Given the description of an element on the screen output the (x, y) to click on. 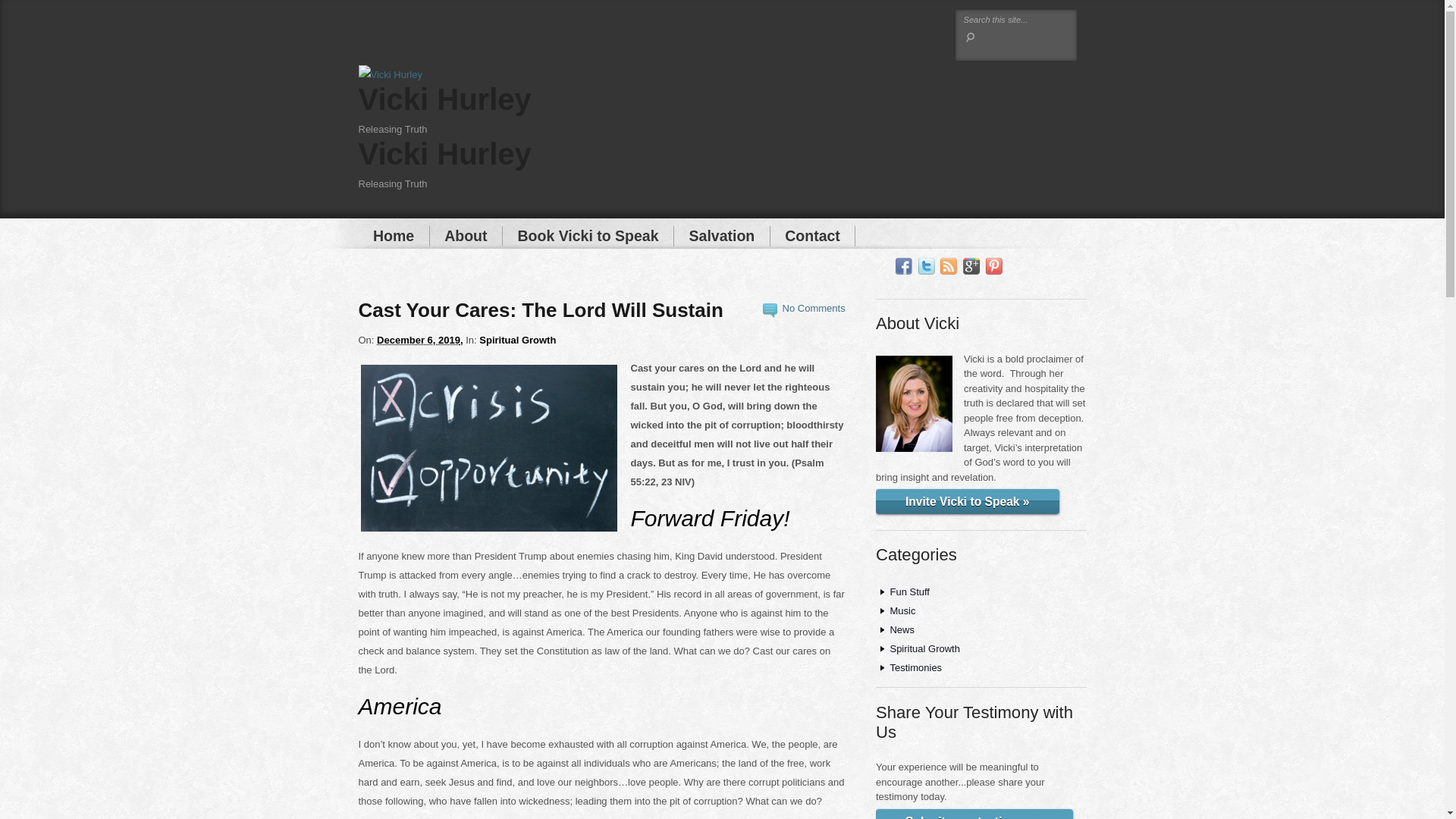
About (465, 236)
RSS (948, 266)
Spiritual Growth (517, 339)
View all items in Spiritual Growth (517, 339)
Twitter (926, 266)
Salvation (722, 236)
Vicki Hurley (444, 153)
Book Vicki to Speak (588, 236)
Home (393, 236)
2019-12-06T00:41:51-0600 (420, 339)
